Given the description of an element on the screen output the (x, y) to click on. 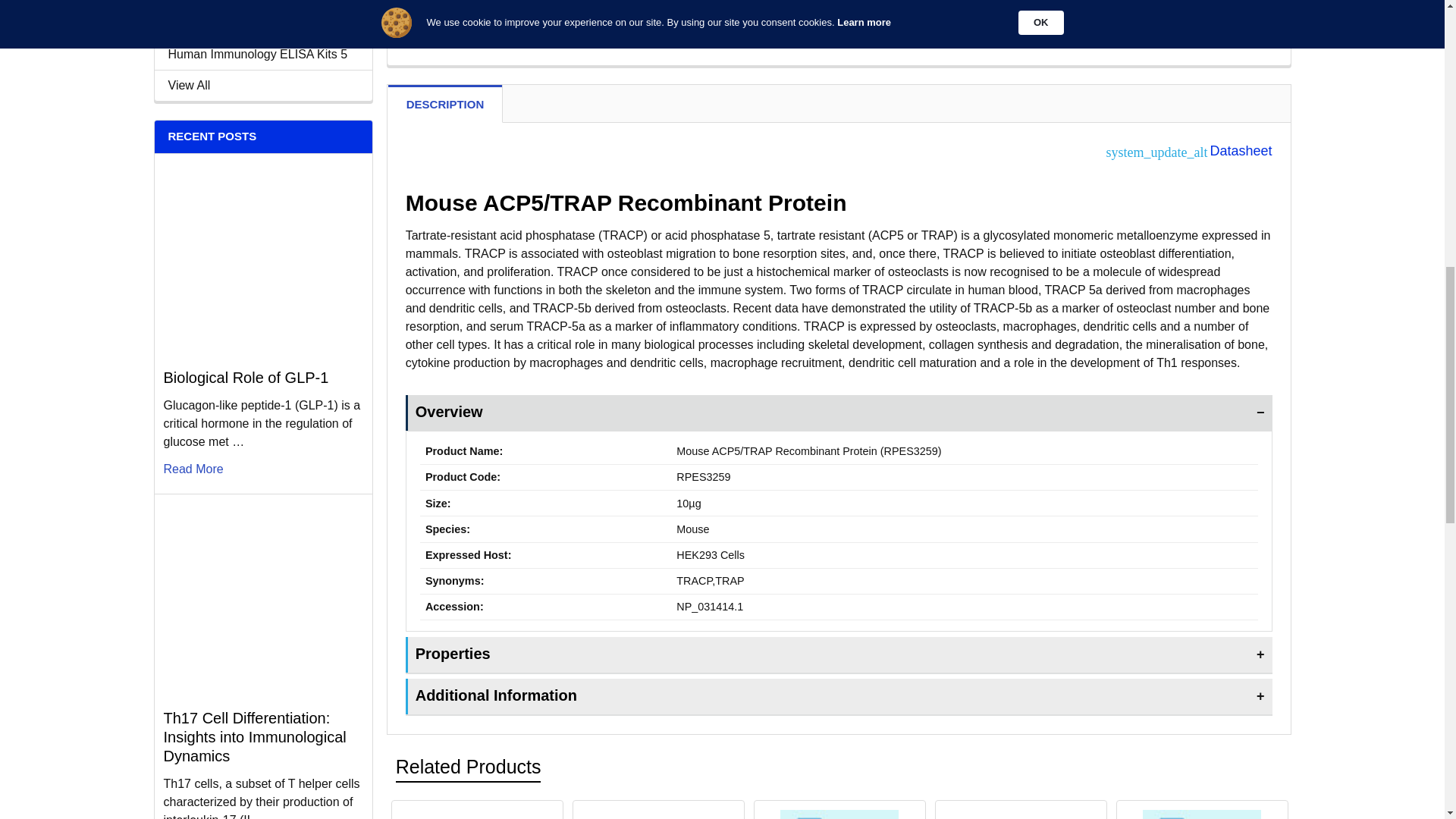
Biological Role of GLP-1 (262, 258)
Human Immunology ELISA Kits 5 (263, 54)
Human ACP5 Recombinant Protein RPPB5778 (838, 814)
Human Immunology ELISA Kits 4 (263, 23)
